Given the description of an element on the screen output the (x, y) to click on. 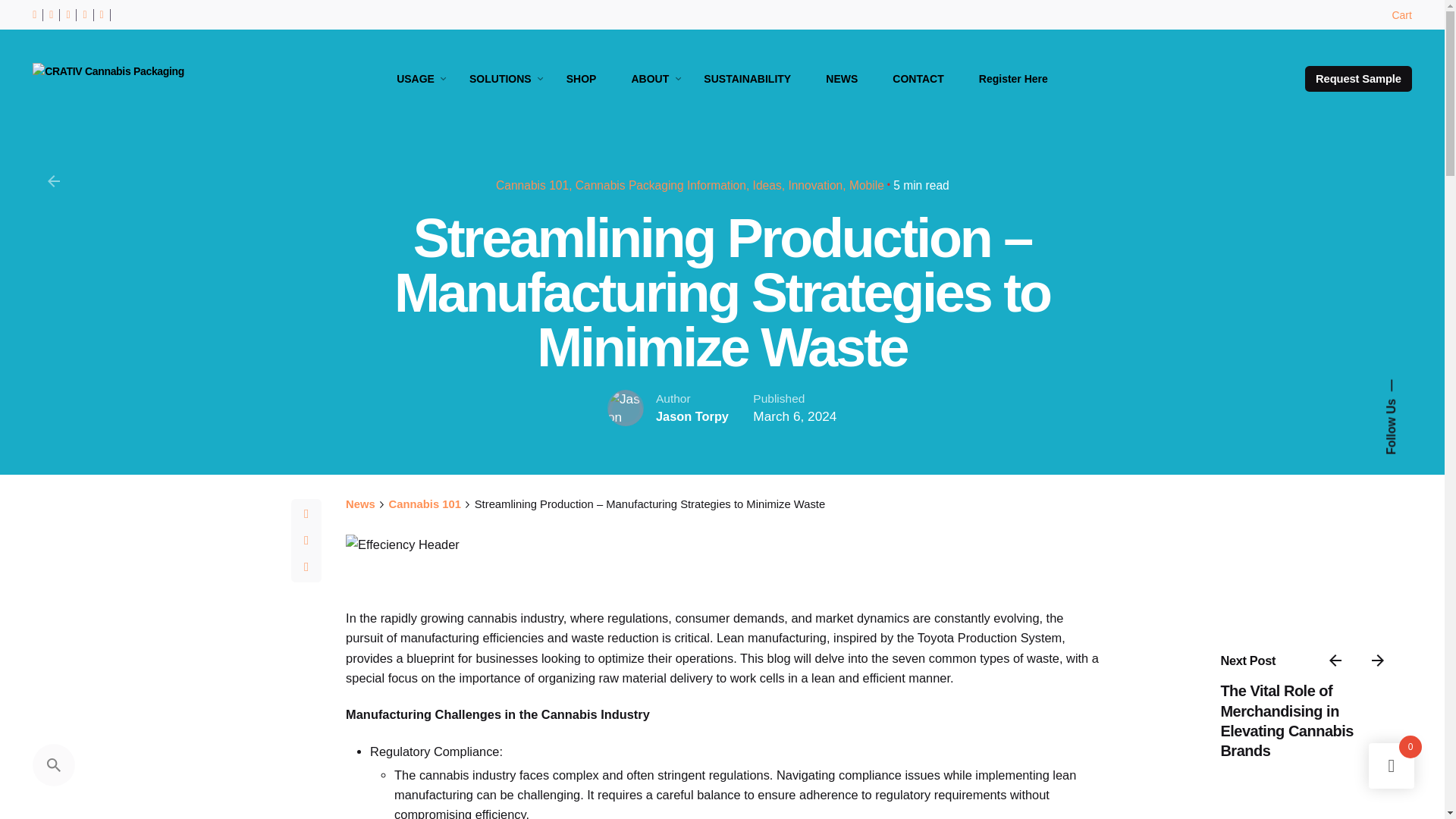
Cart (1400, 13)
NEWS (841, 78)
USAGE (414, 78)
SHOP (581, 78)
SUSTAINABILITY (746, 78)
ABOUT (648, 78)
Register Here (1012, 78)
CONTACT (917, 78)
SOLUTIONS (499, 78)
